Given the description of an element on the screen output the (x, y) to click on. 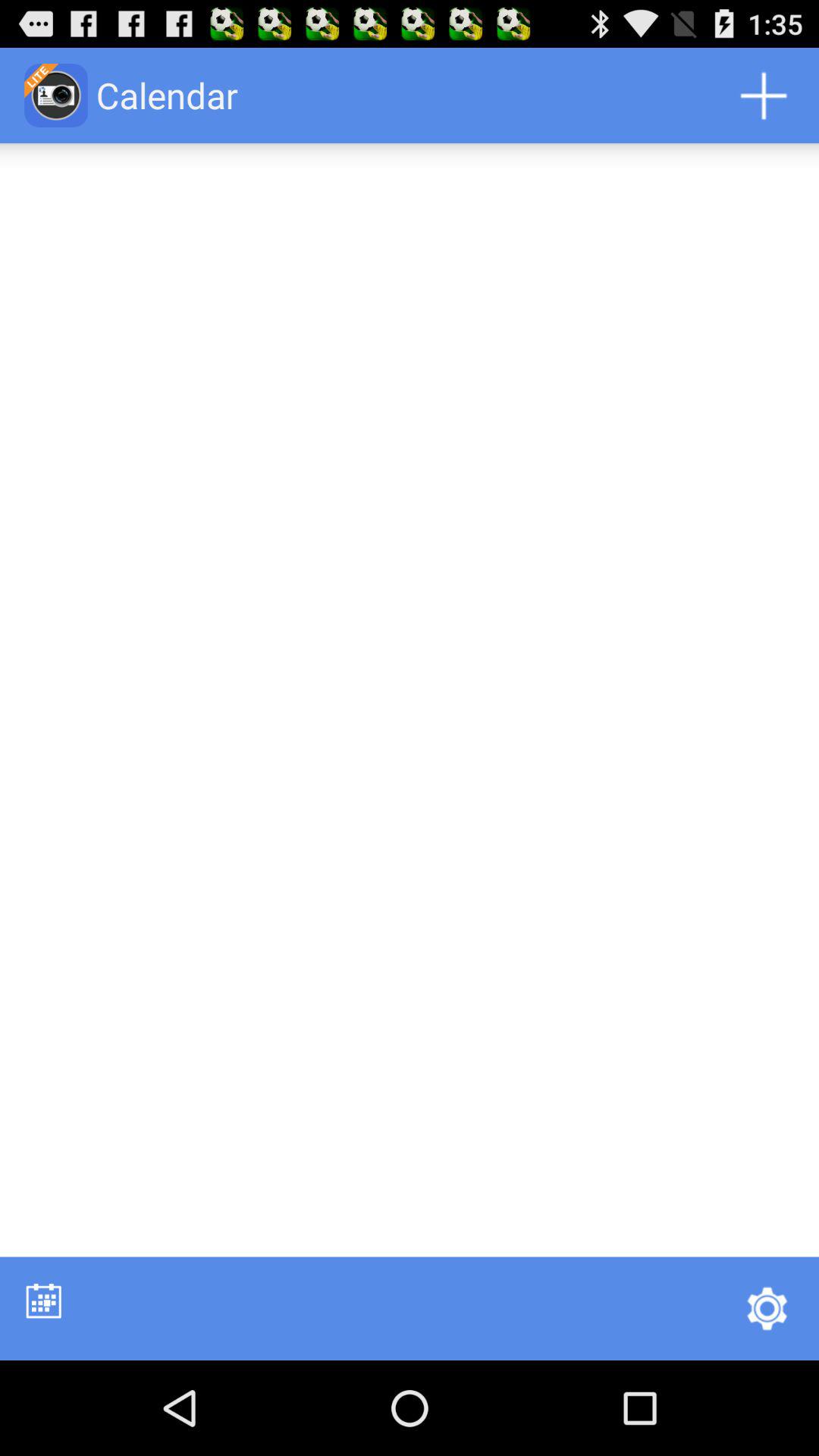
open up settings (767, 1308)
